Given the description of an element on the screen output the (x, y) to click on. 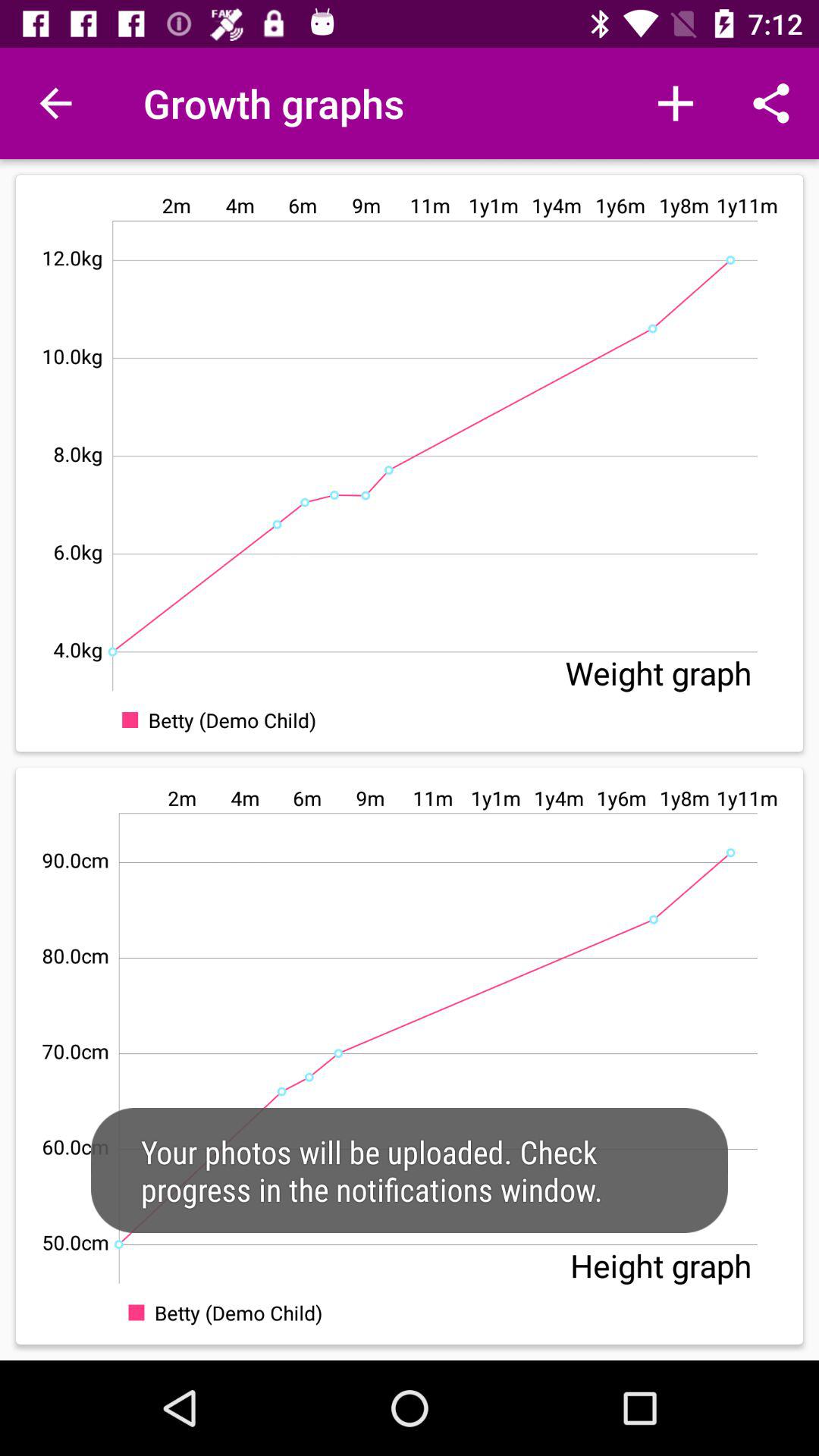
turn off the item to the right of the growth graphs (675, 103)
